Given the description of an element on the screen output the (x, y) to click on. 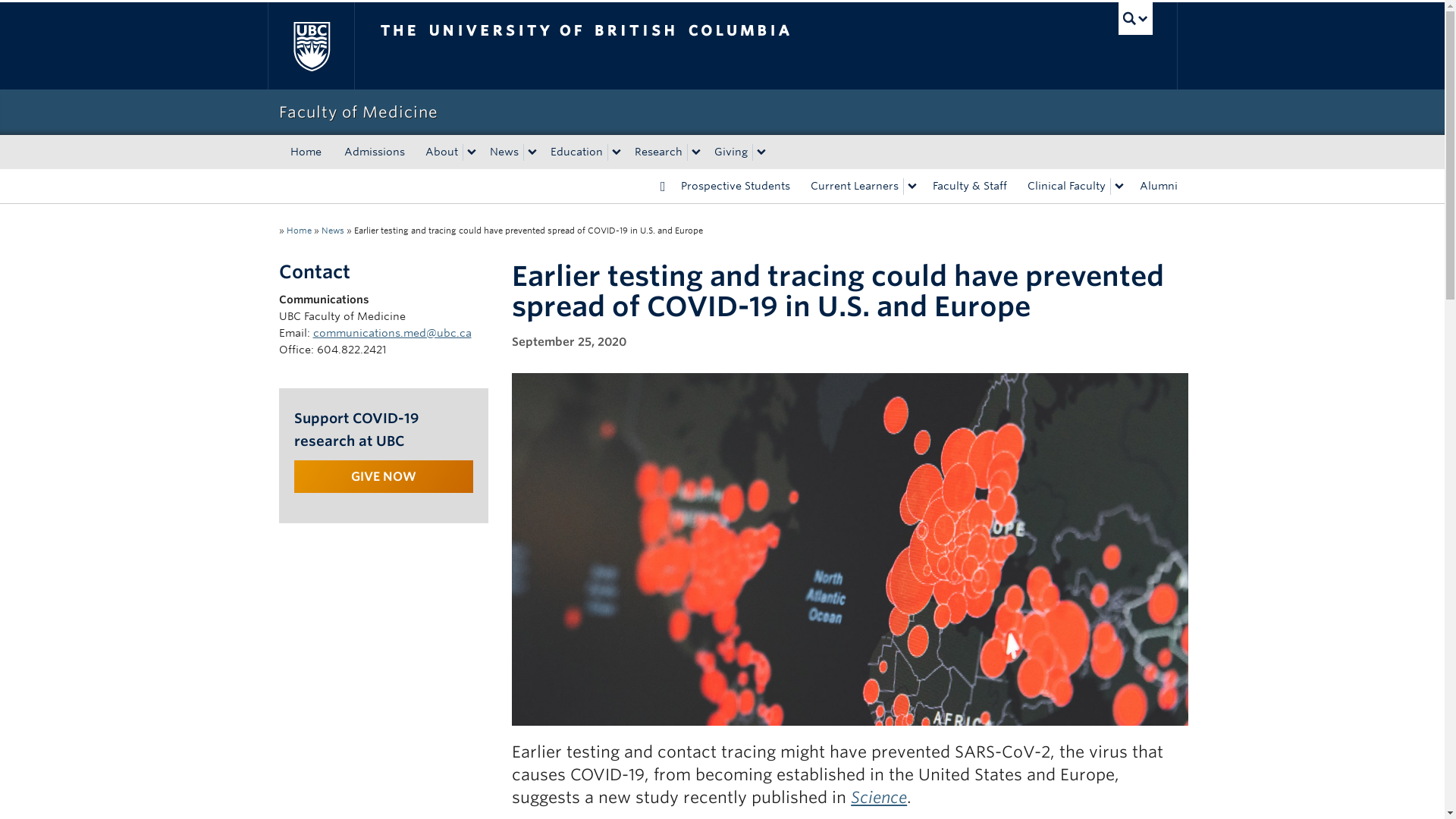
Home (306, 151)
Research (655, 151)
News (502, 151)
About (438, 151)
Faculty of Medicine (722, 112)
News (332, 230)
Education (574, 151)
UBC Search (1135, 18)
UBC Faculty of Medicine (298, 230)
Admissions (372, 151)
The University of British Columbia (635, 45)
The University of British Columbia (309, 45)
Faculty of Medicine (722, 112)
